Given the description of an element on the screen output the (x, y) to click on. 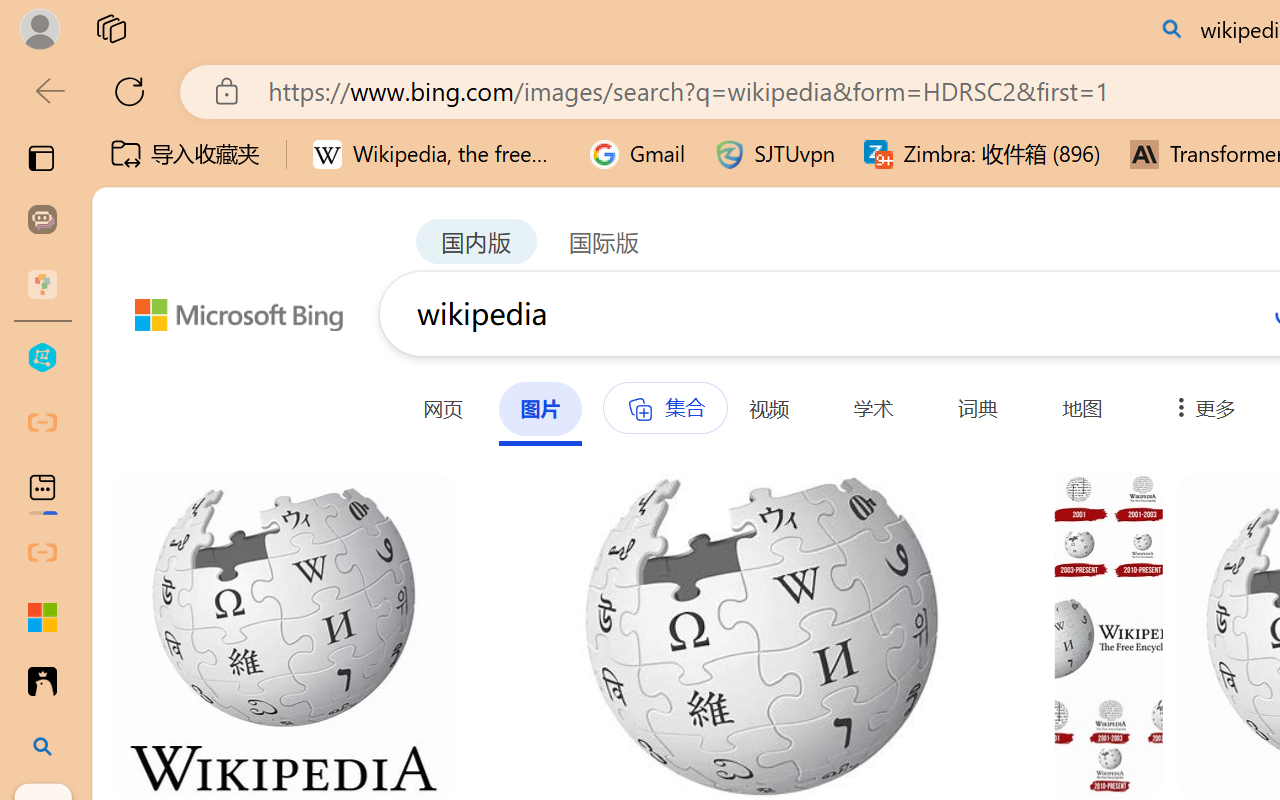
Group (701, 87)
Insert Header Row (727, 112)
Link Text (702, 138)
Color & Contrast (392, 168)
Insert Captions (988, 114)
Accessibility Help (1070, 114)
